Given the description of an element on the screen output the (x, y) to click on. 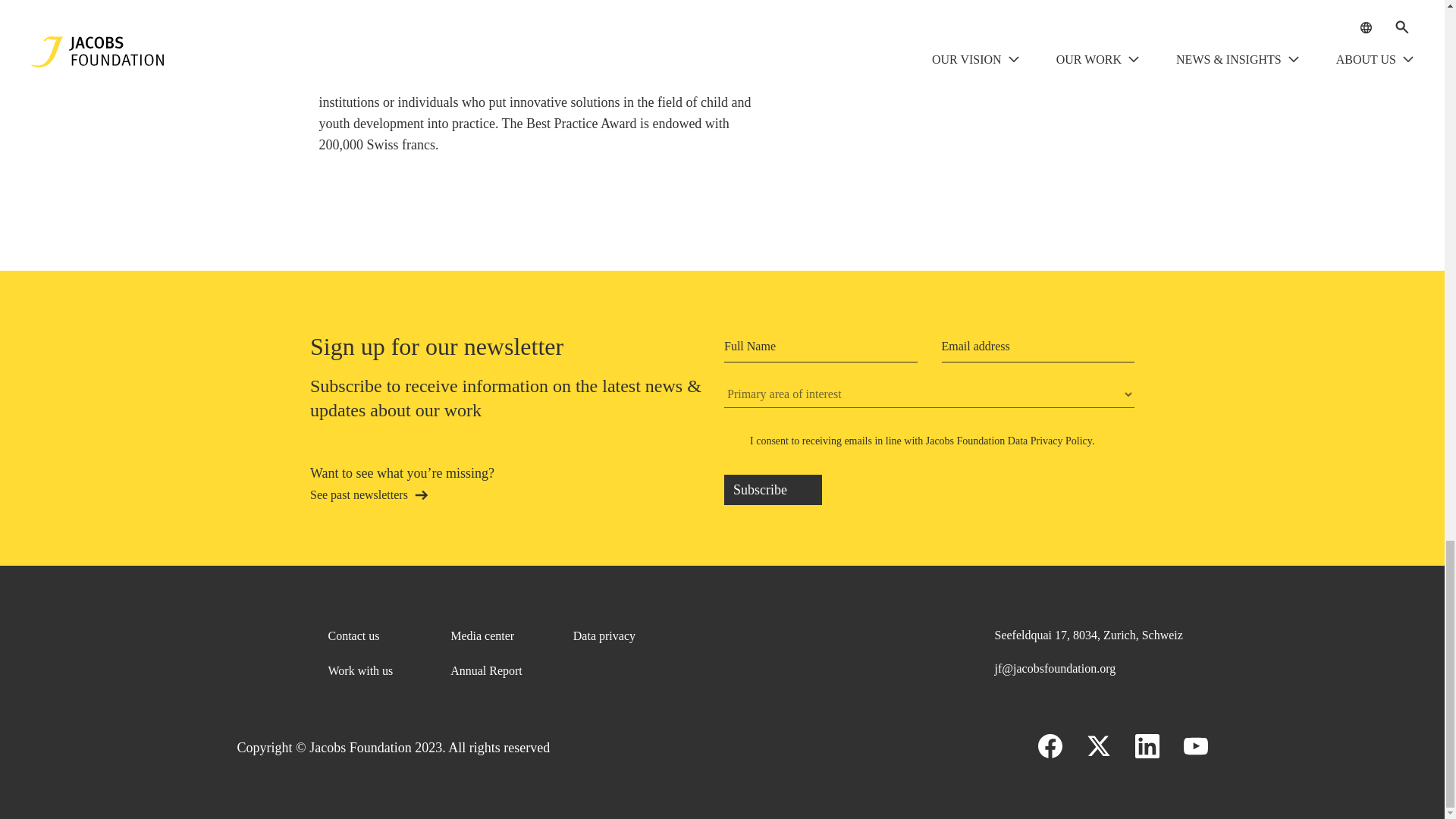
1 (732, 441)
